Given the description of an element on the screen output the (x, y) to click on. 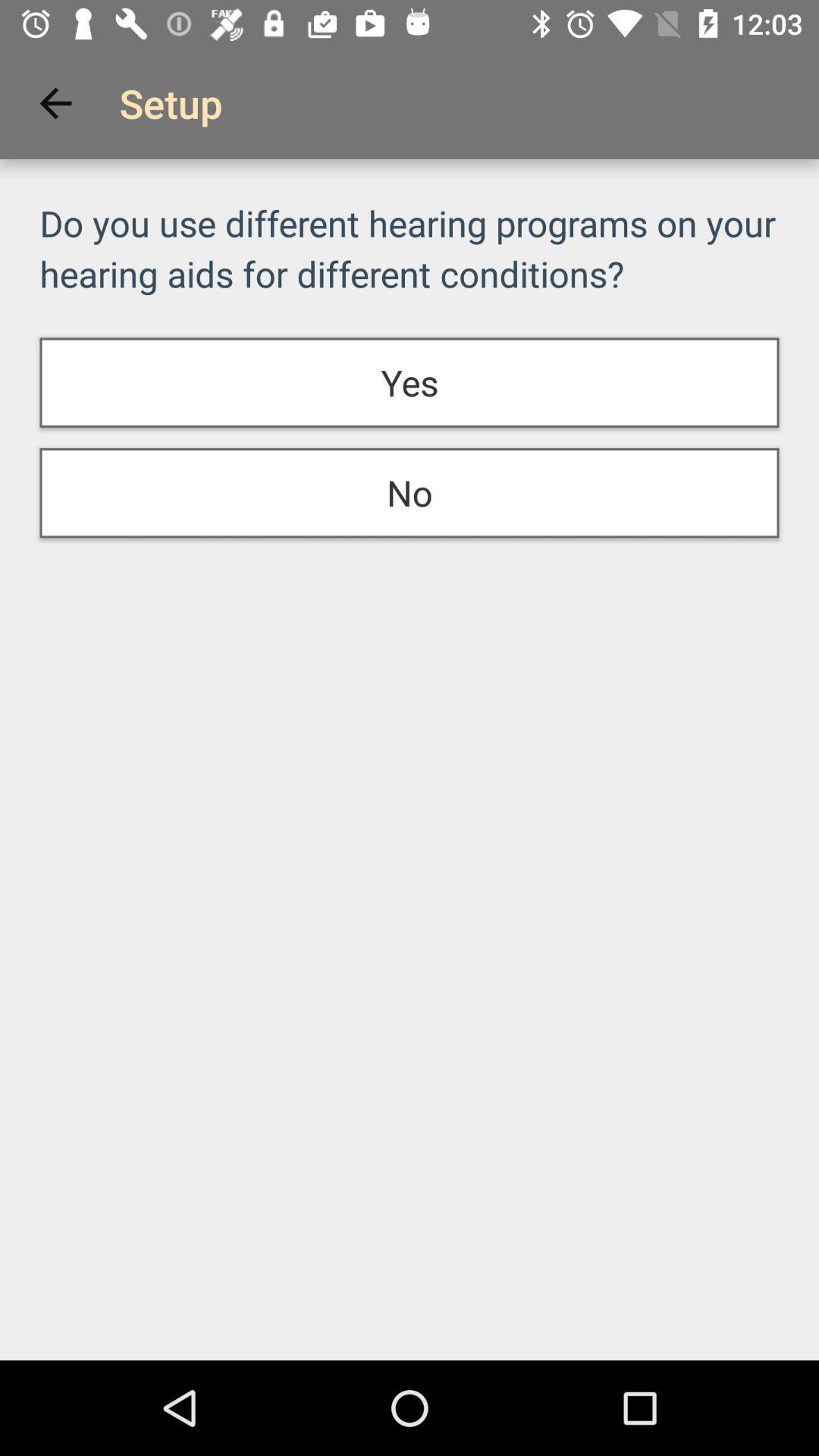
scroll to the no (409, 493)
